Given the description of an element on the screen output the (x, y) to click on. 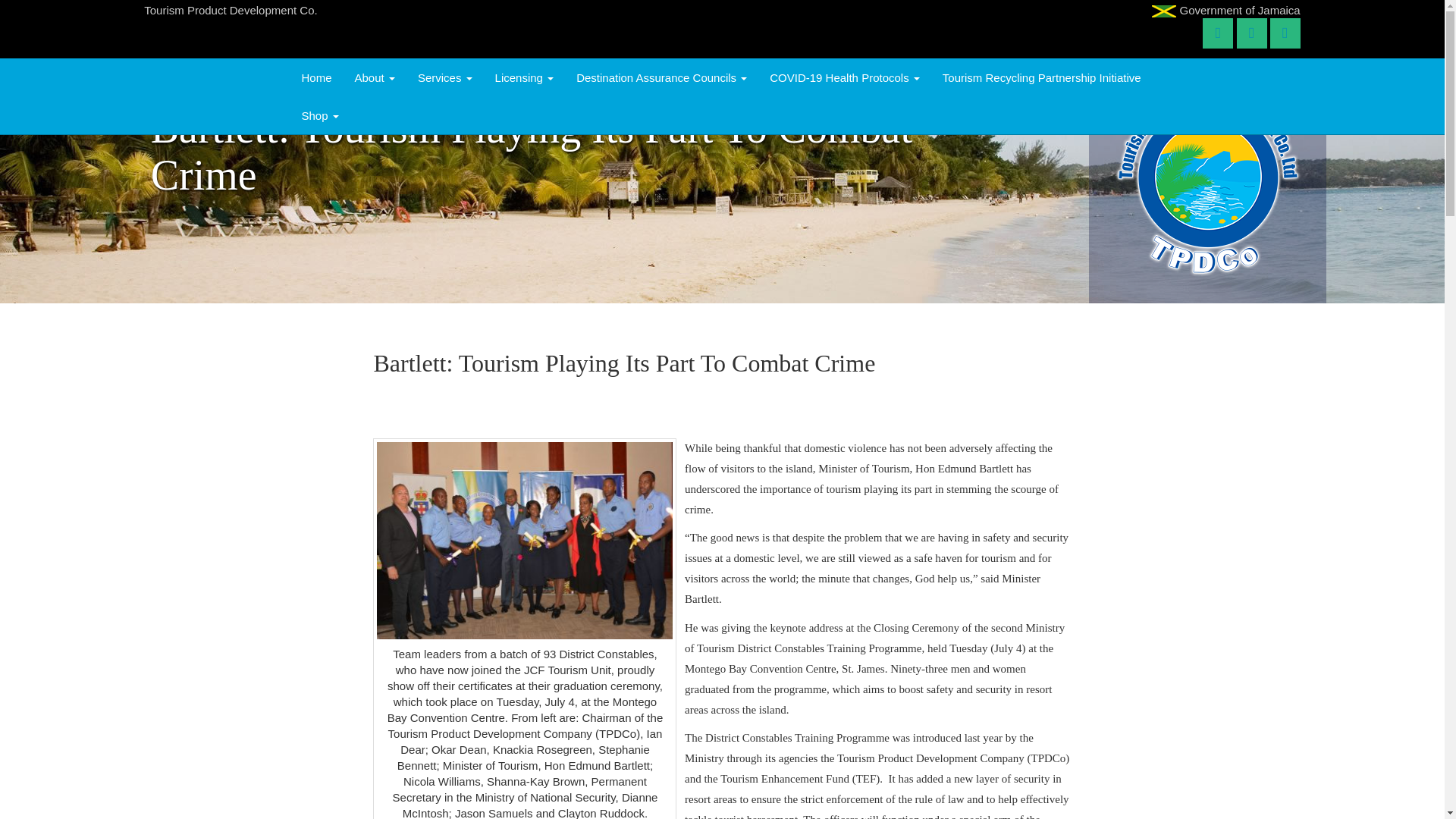
About (374, 77)
Services (444, 77)
Home (315, 77)
Licensing (524, 77)
Home (315, 77)
About (374, 77)
